Given the description of an element on the screen output the (x, y) to click on. 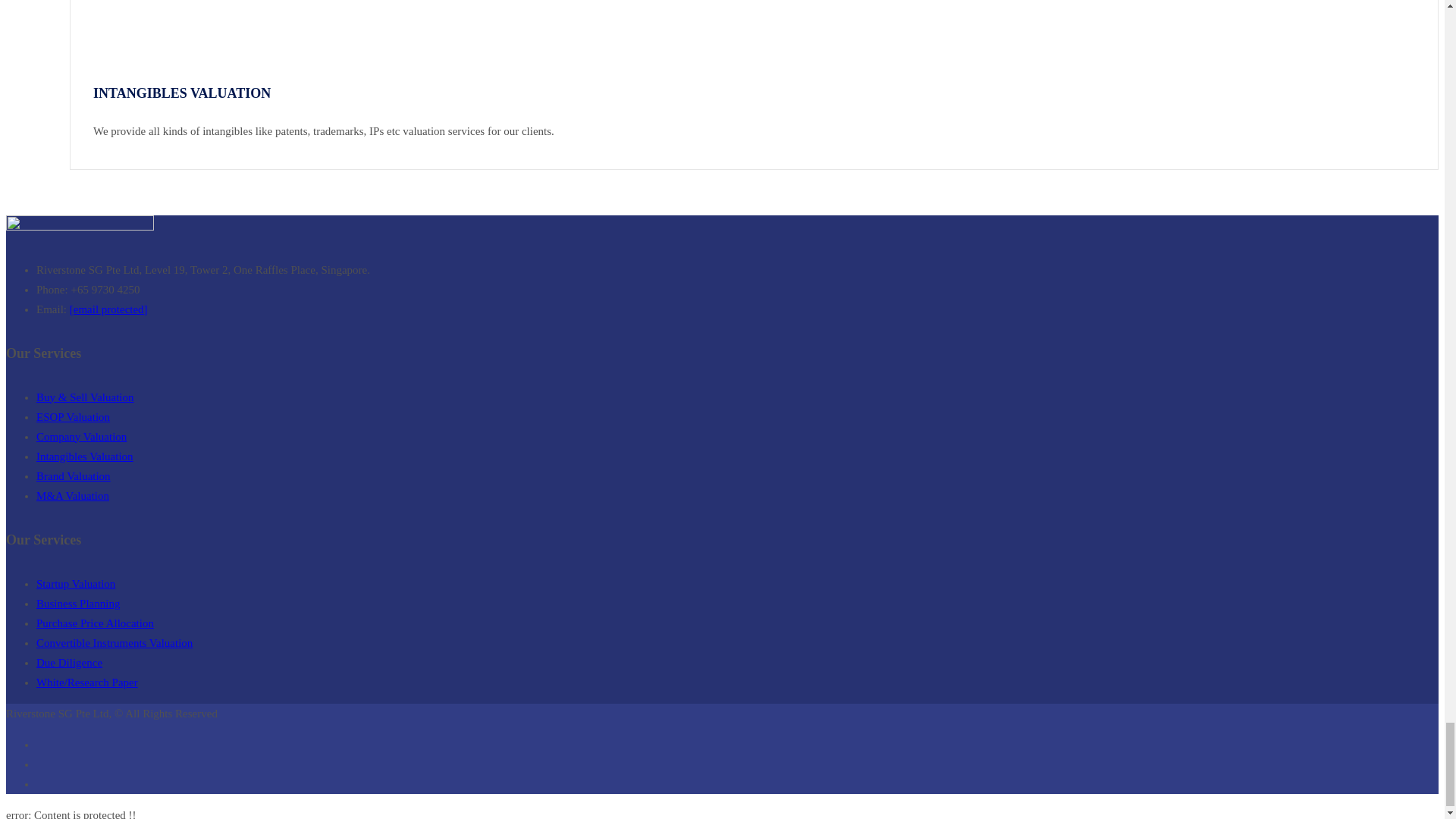
ESOP Valuation 12 (120, 32)
